Given the description of an element on the screen output the (x, y) to click on. 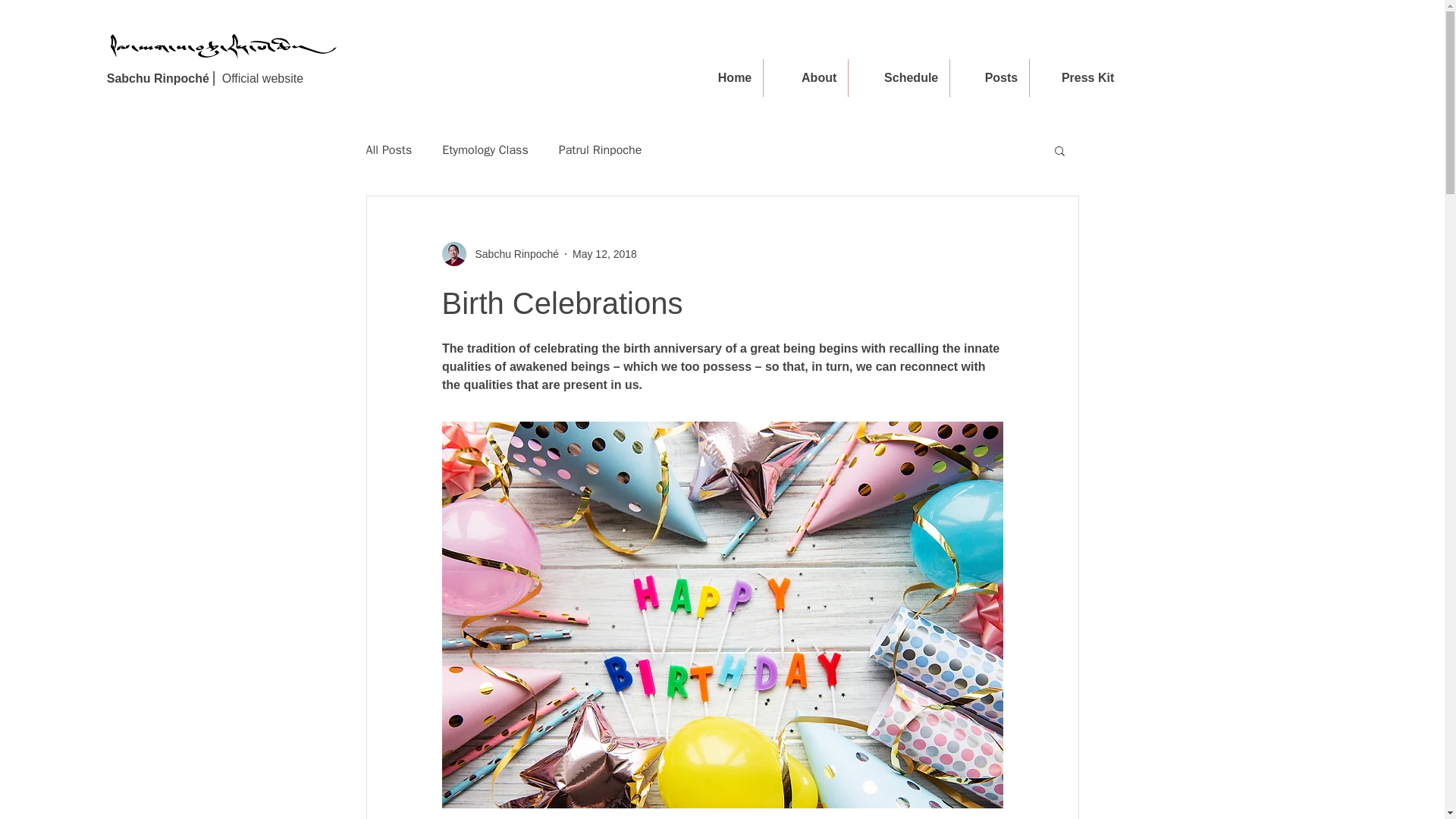
May 12, 2018 (604, 253)
Posts (989, 77)
All Posts (388, 150)
Press Kit (1077, 77)
Etymology Class (484, 150)
Schedule (898, 77)
Home (720, 77)
Patrul Rinpoche (600, 150)
